Given the description of an element on the screen output the (x, y) to click on. 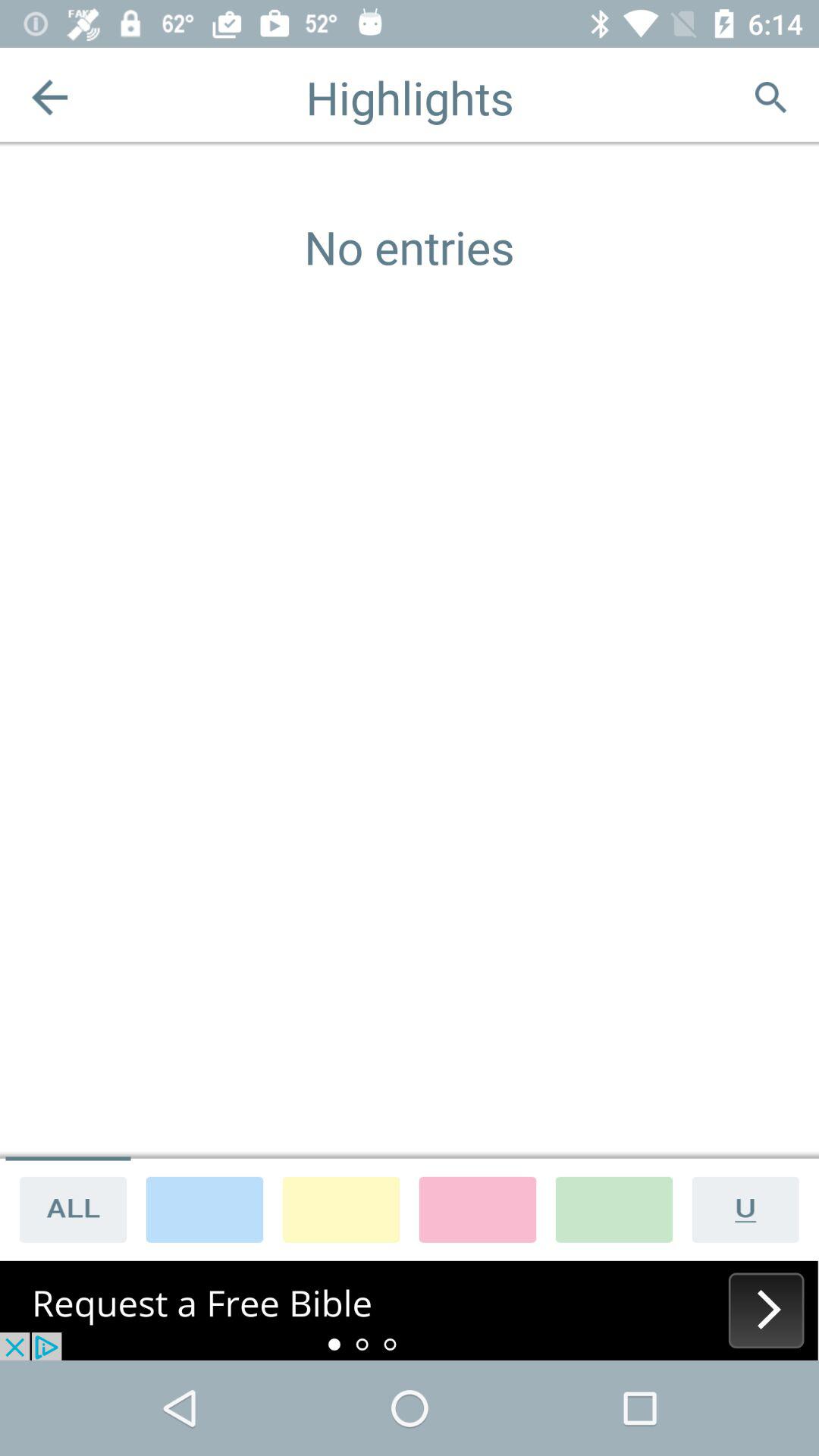
search (770, 97)
